Given the description of an element on the screen output the (x, y) to click on. 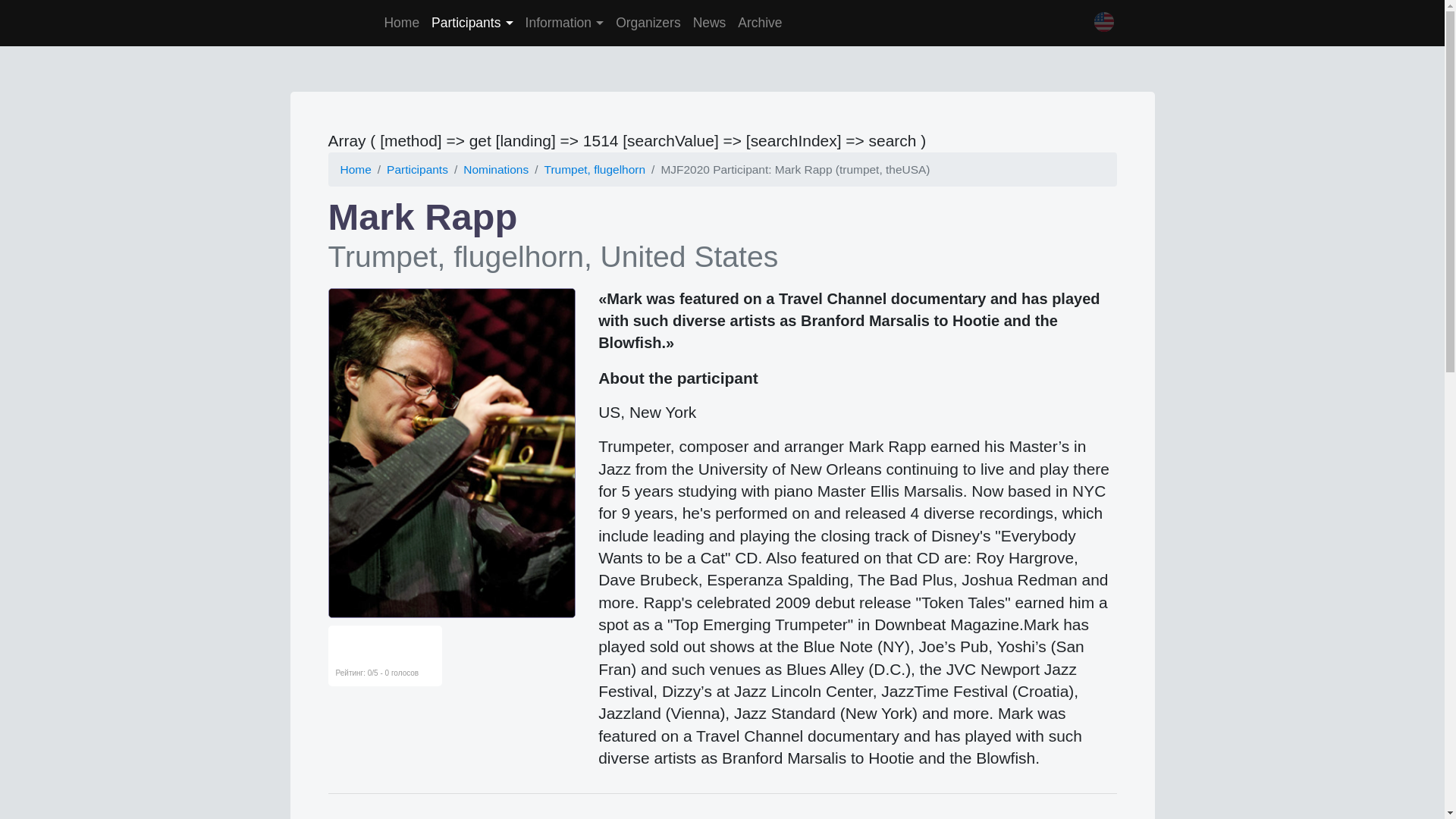
Trumpet, flugelhorn (595, 169)
Archive (759, 22)
News (709, 22)
Participants (417, 169)
Organizers (647, 22)
Information (564, 22)
Master-Jam Fest (333, 23)
Participants (471, 22)
Home (401, 22)
Home (355, 169)
